Given the description of an element on the screen output the (x, y) to click on. 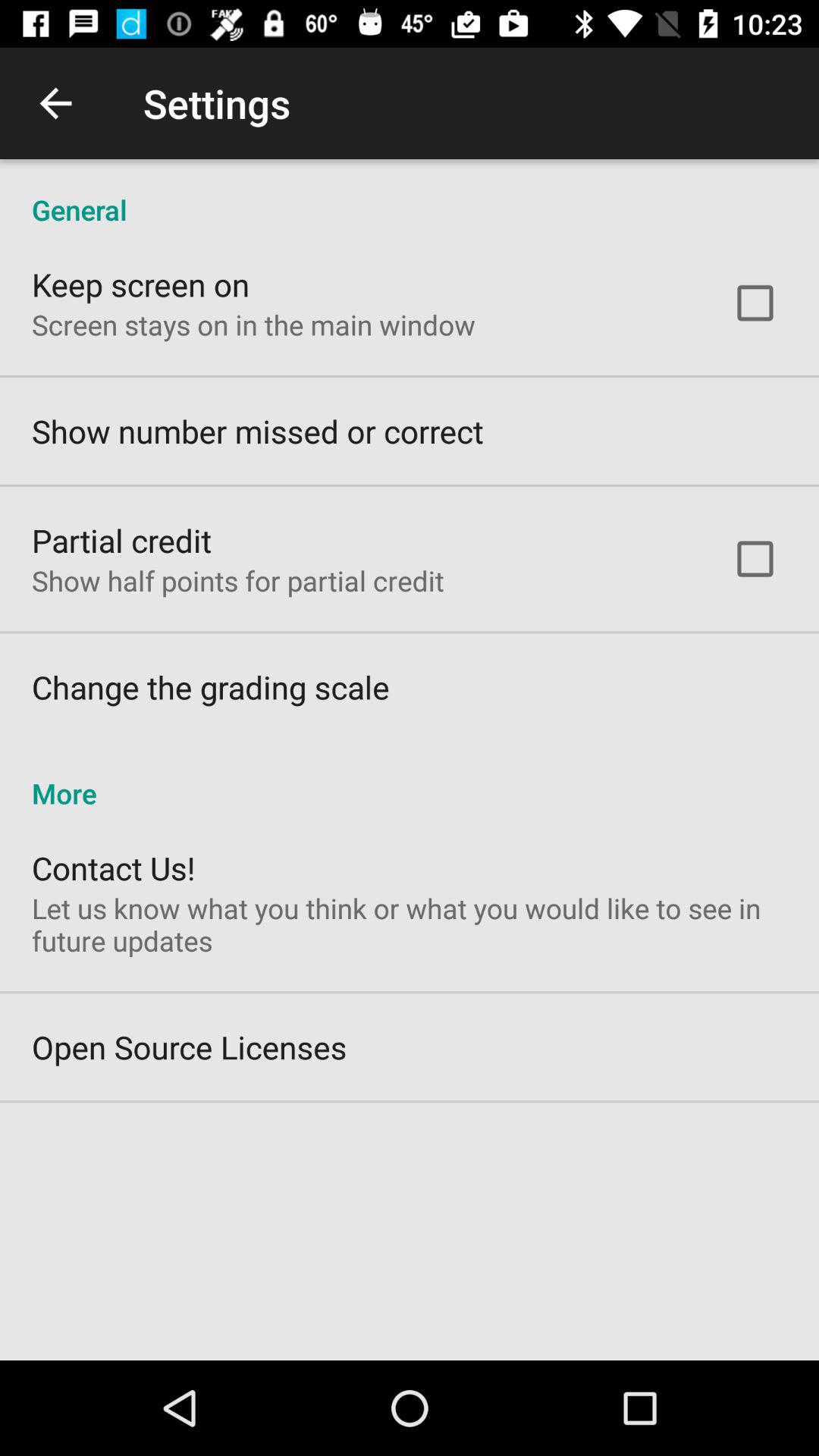
select the general item (409, 193)
